Given the description of an element on the screen output the (x, y) to click on. 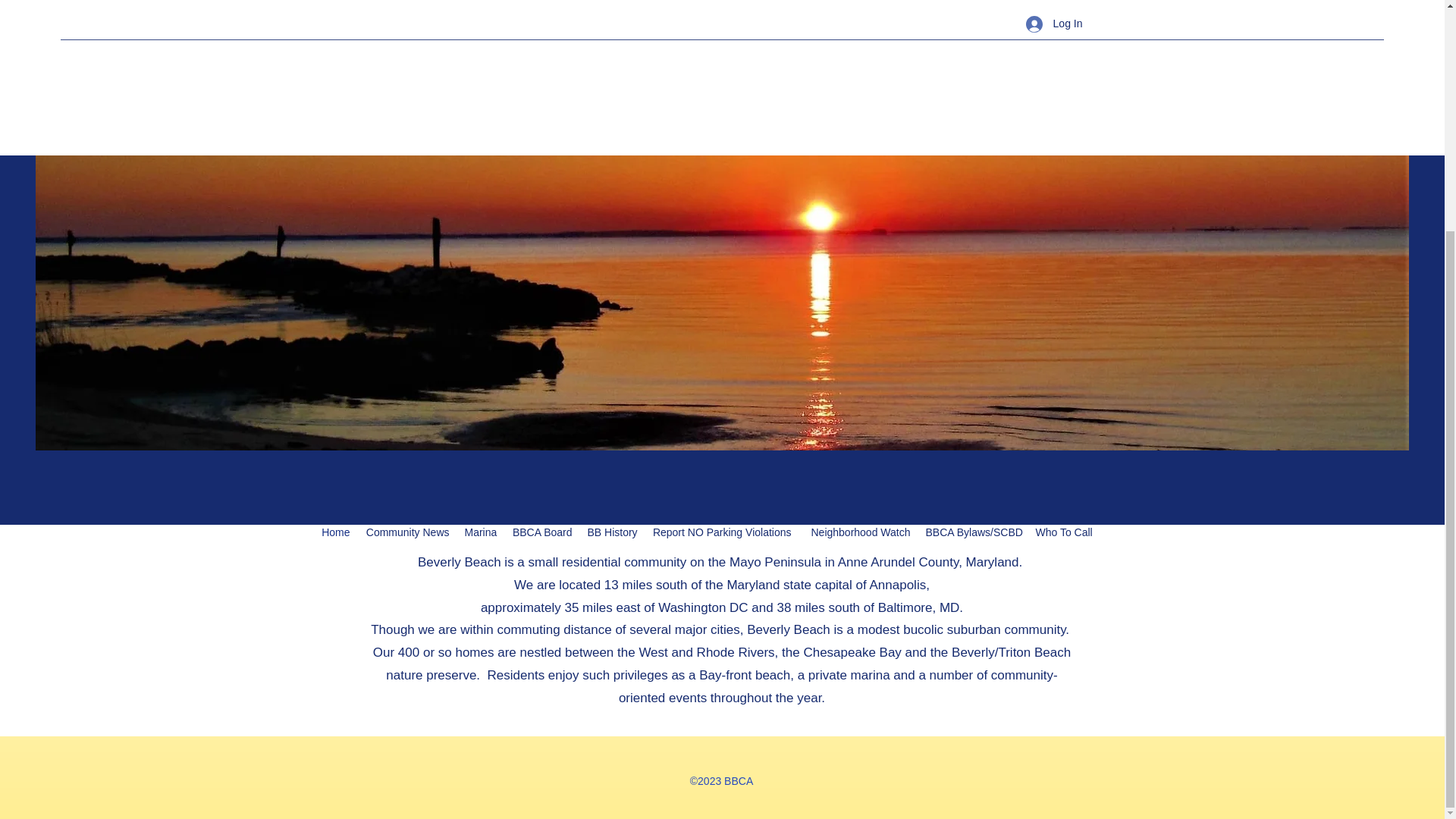
Home (336, 219)
Marina (480, 219)
BBCA Board (541, 219)
Community News (407, 219)
Neighborhood Watch (858, 219)
Report NO Parking Violations (722, 219)
Who To Call (1063, 219)
BB History (611, 219)
